Given the description of an element on the screen output the (x, y) to click on. 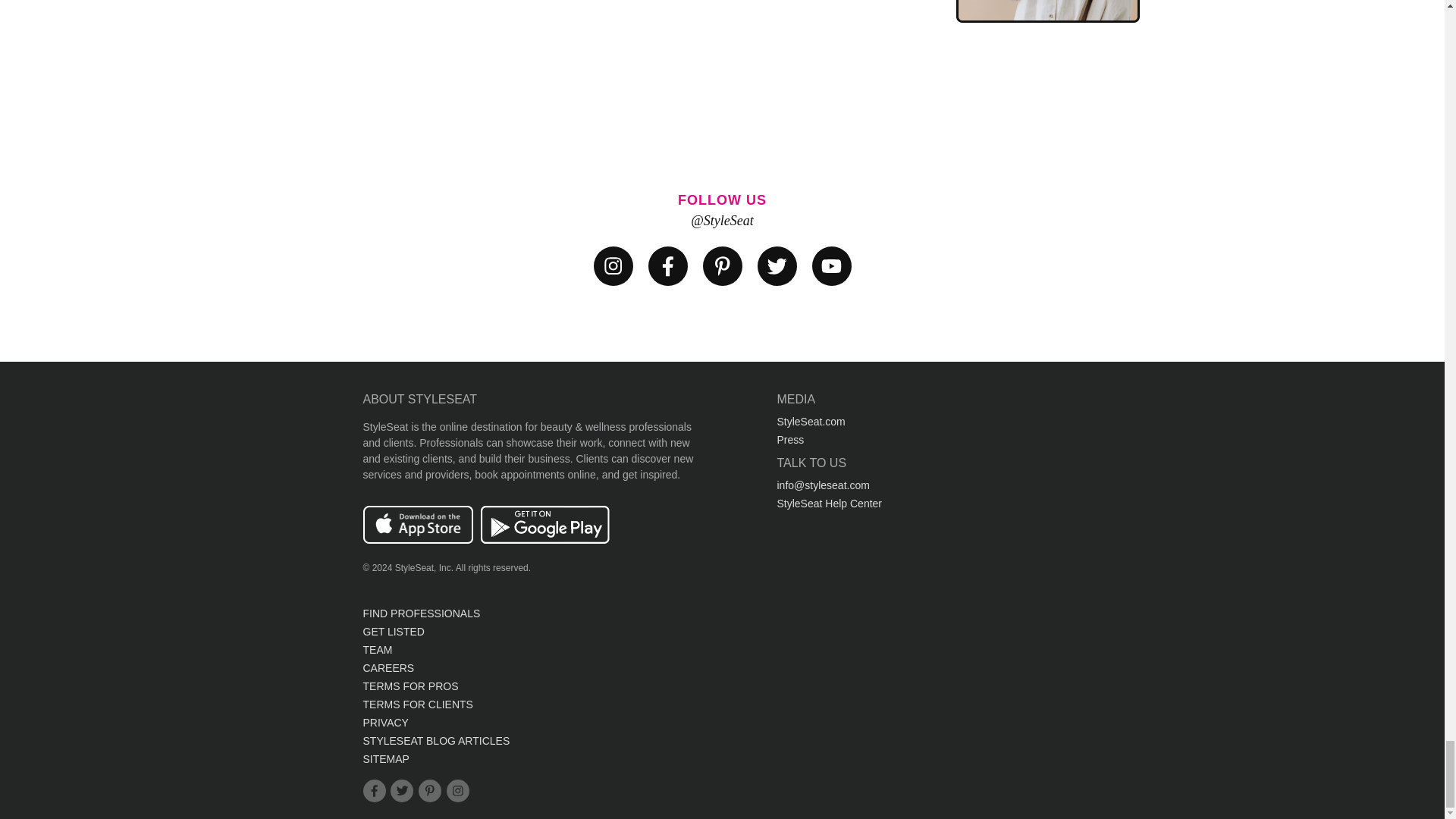
Download on the App Store (416, 539)
Android App on Google Play (545, 539)
